Given the description of an element on the screen output the (x, y) to click on. 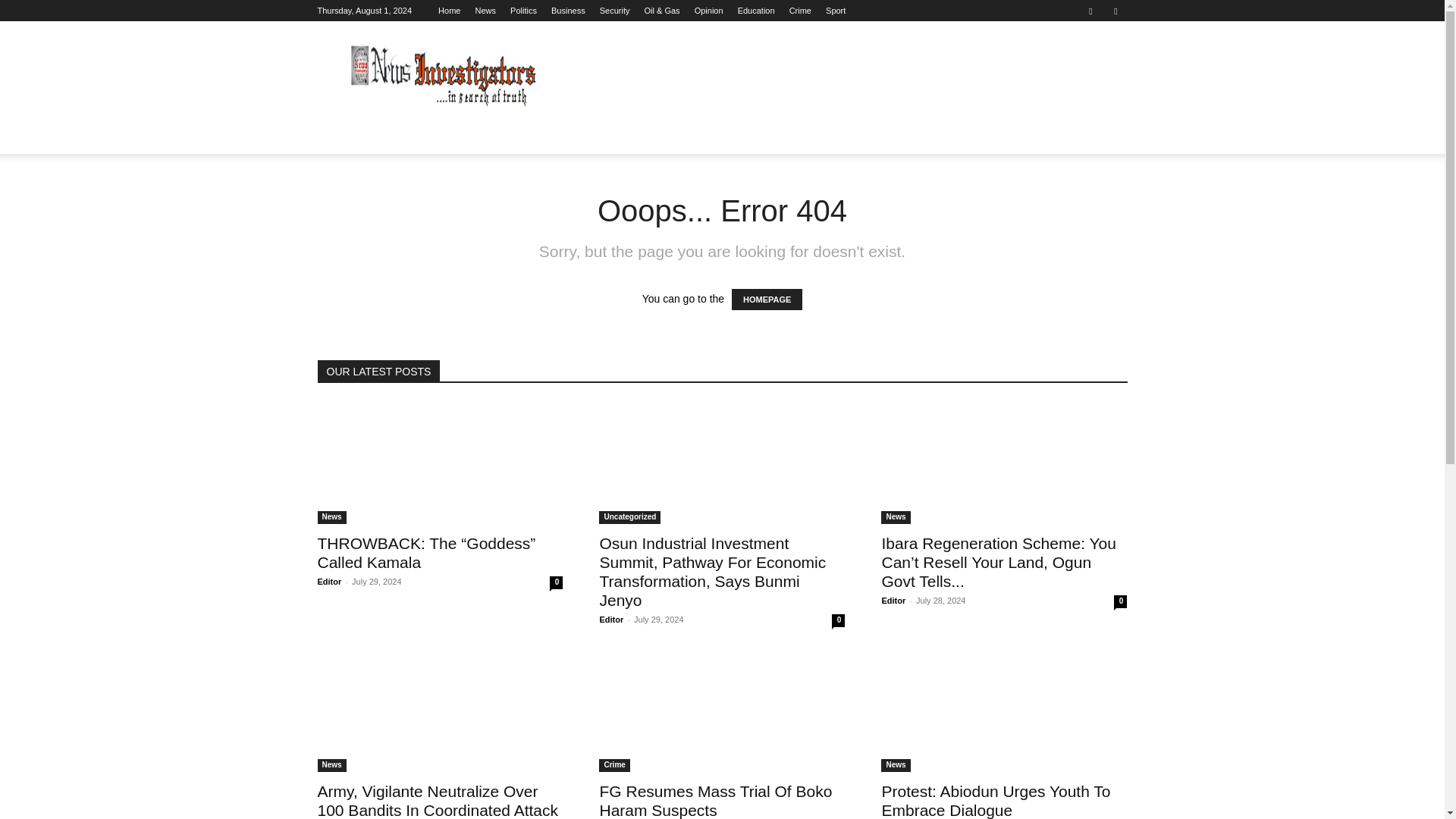
Crime (799, 10)
Sport (835, 10)
CRIME (896, 135)
POLITICS (458, 135)
HOME (343, 135)
Twitch (1114, 10)
OPINION (752, 135)
FG Resumes Mass Trial Of Boko Haram Suspects (721, 711)
Education (756, 10)
BUSINESS (531, 135)
Opinion (708, 10)
